Given the description of an element on the screen output the (x, y) to click on. 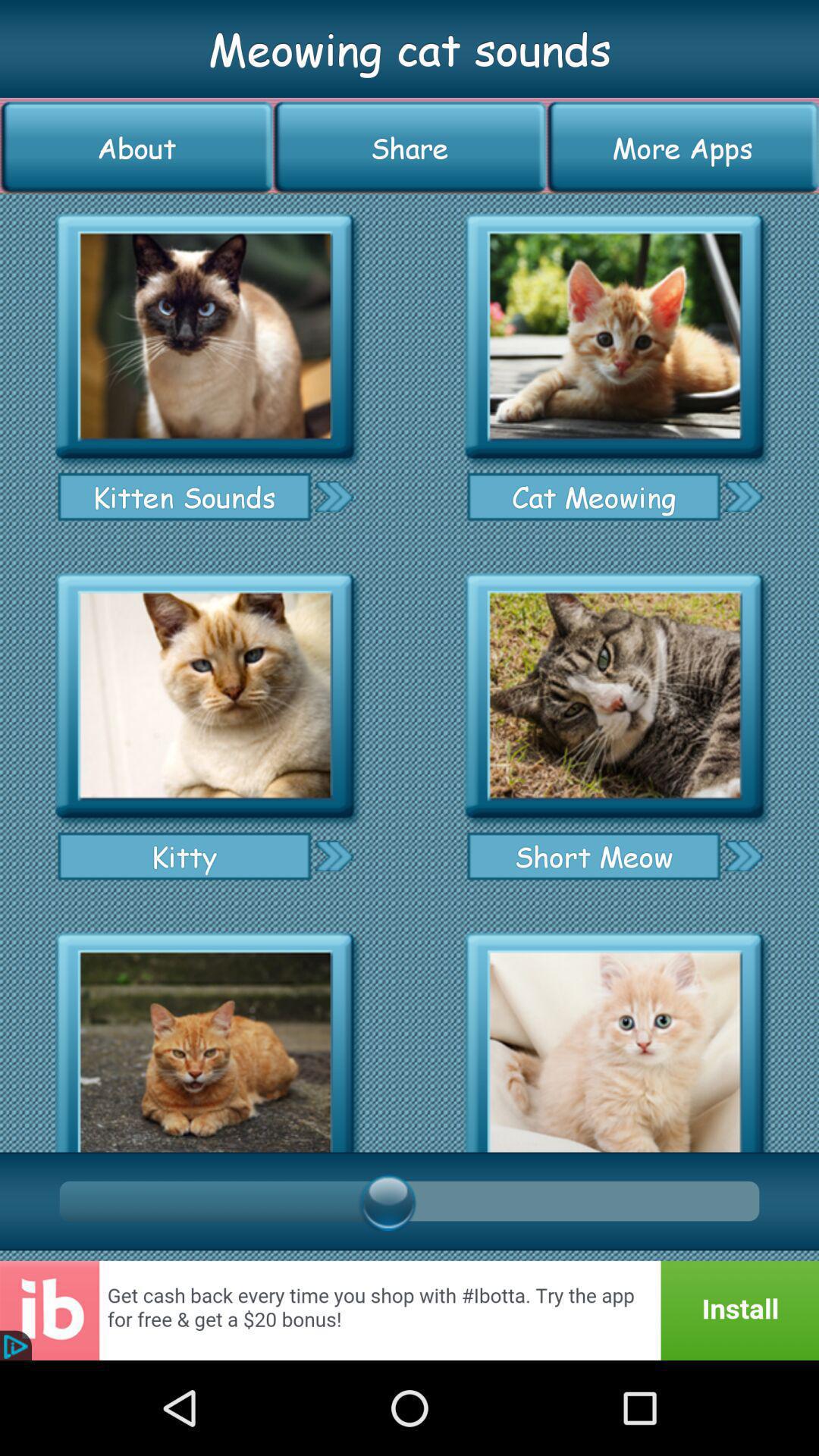
expand photo (613, 696)
